Given the description of an element on the screen output the (x, y) to click on. 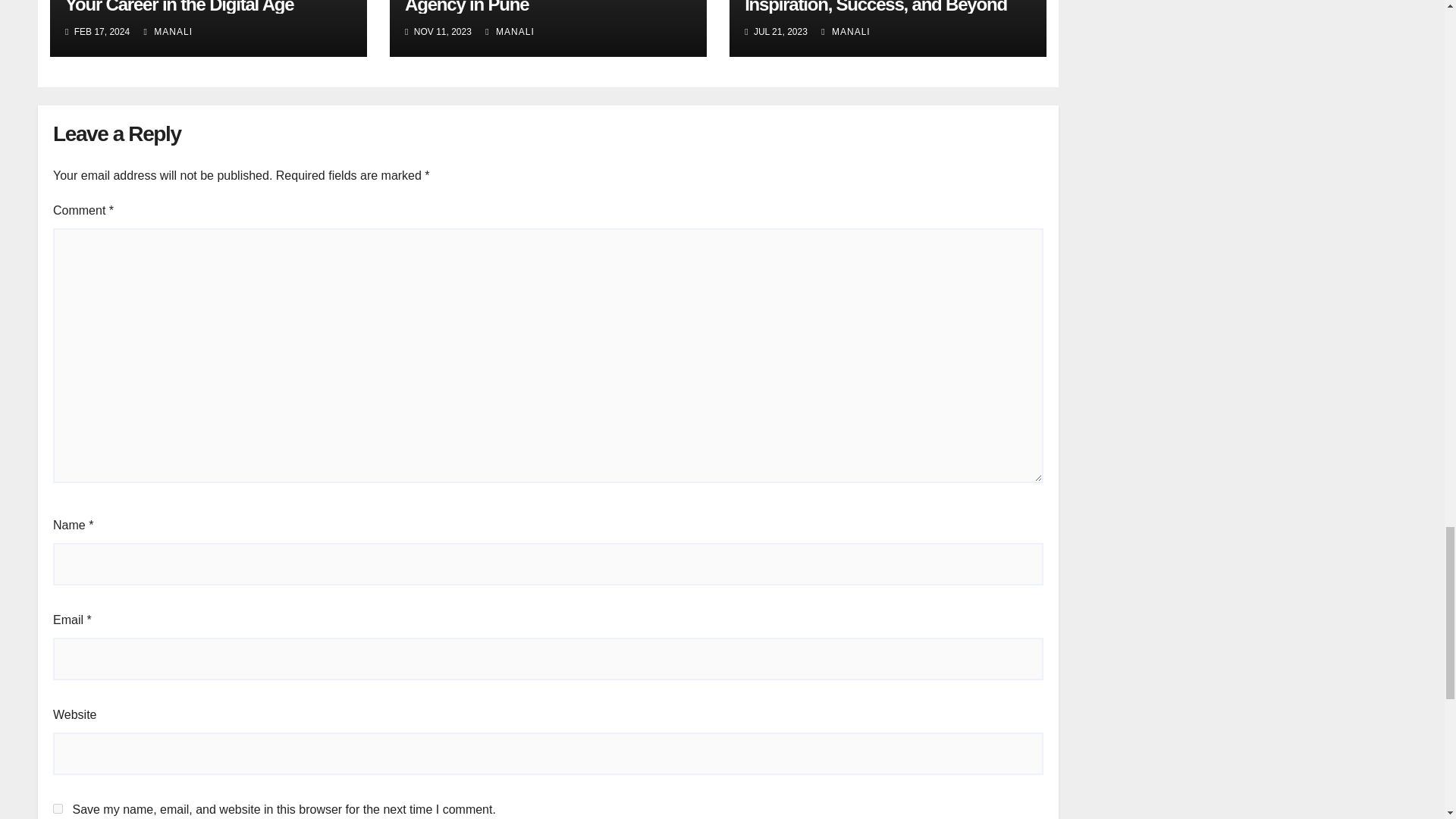
yes (57, 808)
Permalink to: Best SEO Services, Company and Agency in Pune (537, 7)
Best SEO Services, Company and Agency in Pune (537, 7)
MANALI (168, 31)
MANALI (509, 31)
MANALI (845, 31)
